Given the description of an element on the screen output the (x, y) to click on. 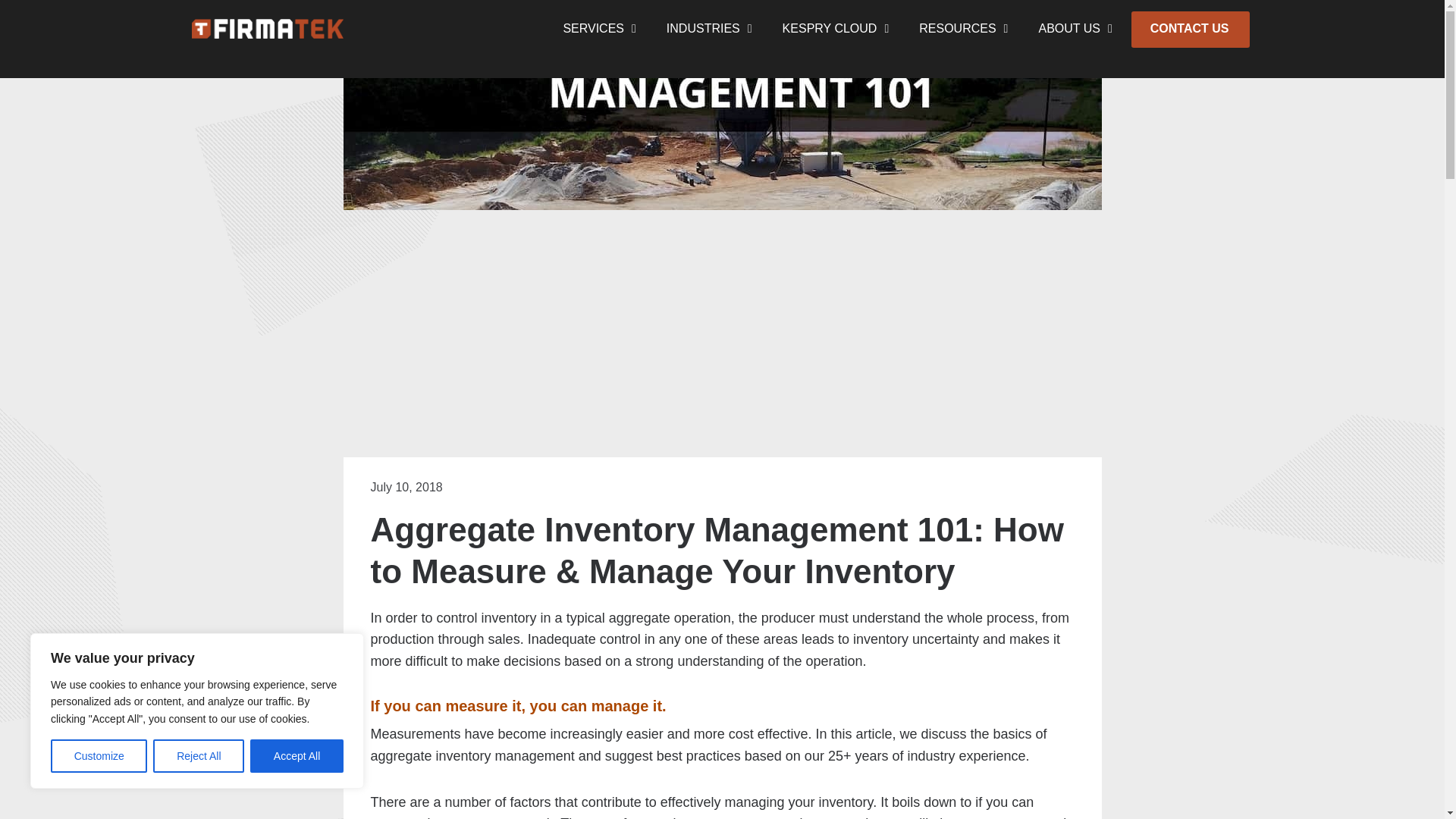
KESPRY CLOUD (836, 28)
ABOUT US (1074, 28)
INDUSTRIES (708, 28)
Accept All (296, 756)
Page 3 (721, 805)
Reject All (198, 756)
Customize (98, 756)
